Given the description of an element on the screen output the (x, y) to click on. 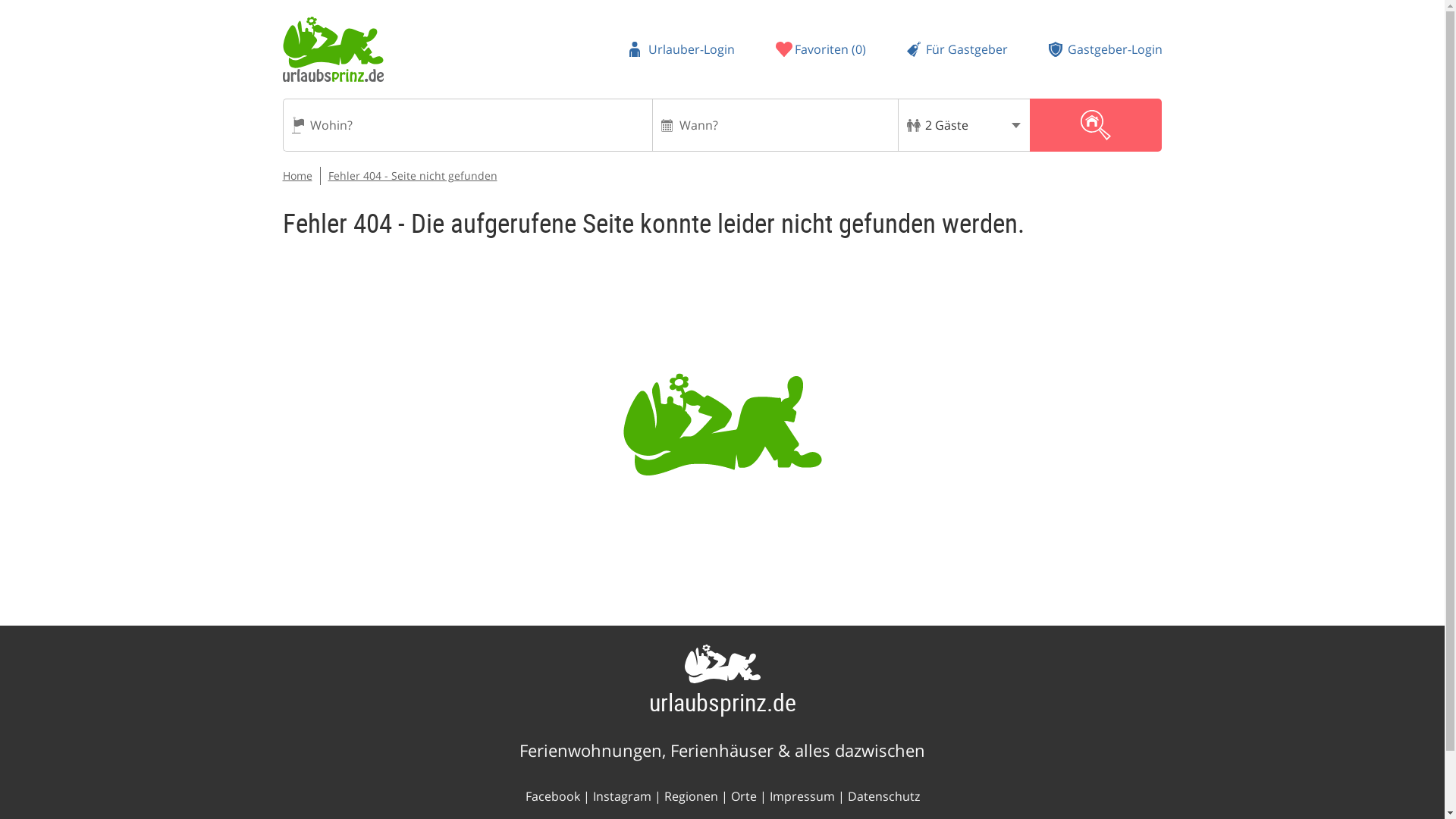
Gastgeber-Login bei urlaubsprinz.de (1104, 48)
Fehler 404 - Seite nicht gefunden (411, 175)
urlaubsprinz.de (722, 701)
Home (296, 175)
Urlauber-Login urlaubsprinz.de (681, 48)
Regionen (690, 795)
Datenschutz (883, 795)
Gastgeber-Login (1104, 48)
Orte (743, 795)
